Given the description of an element on the screen output the (x, y) to click on. 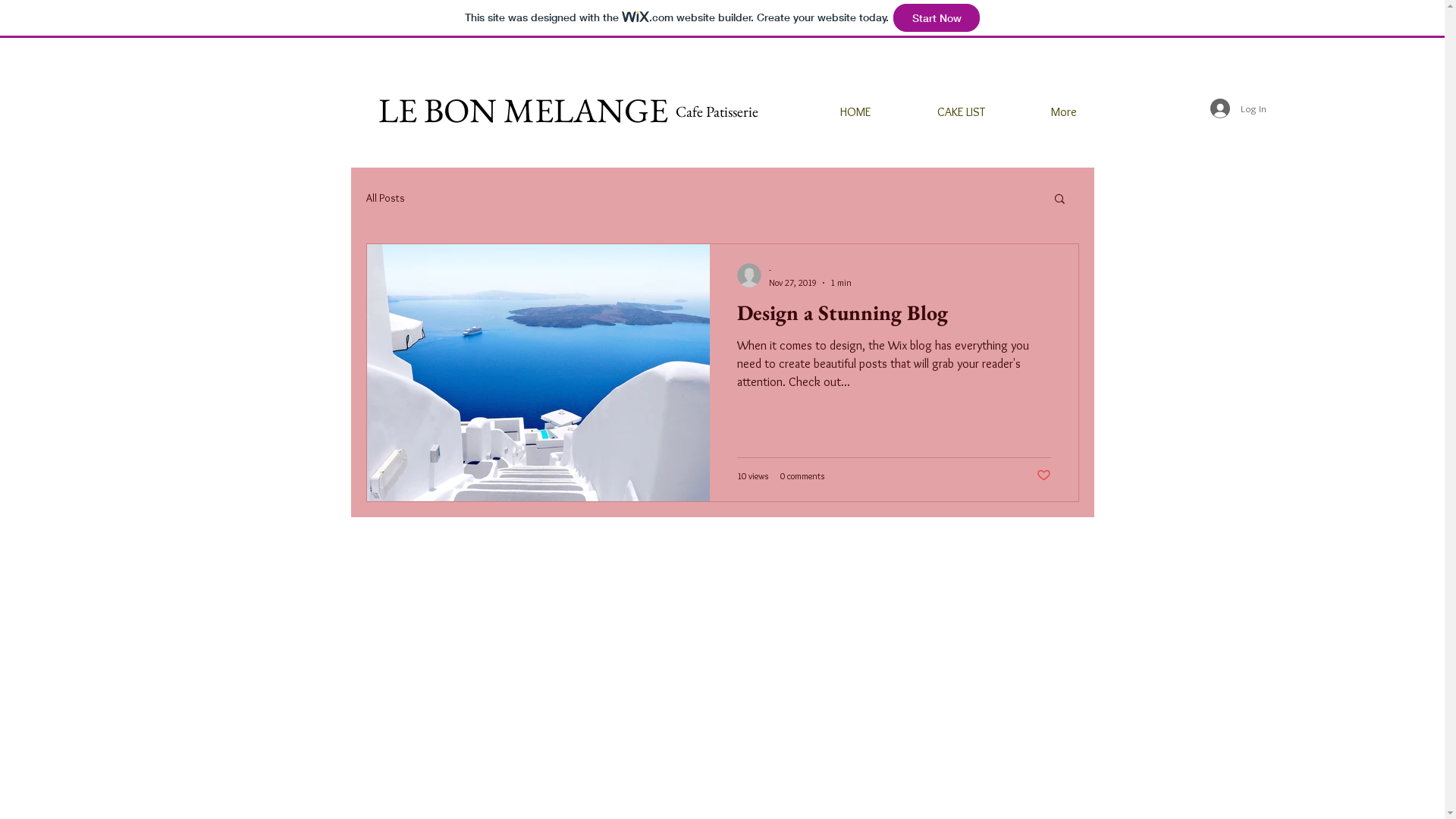
Log In Element type: text (1238, 108)
CAKE LIST Element type: text (938, 111)
Post not marked as liked Element type: text (1042, 475)
All Posts Element type: text (384, 197)
LE BON MELANGE Element type: text (523, 109)
Design a Stunning Blog Element type: text (894, 316)
- Element type: text (809, 269)
0 comments Element type: text (801, 475)
HOME Element type: text (832, 111)
